Given the description of an element on the screen output the (x, y) to click on. 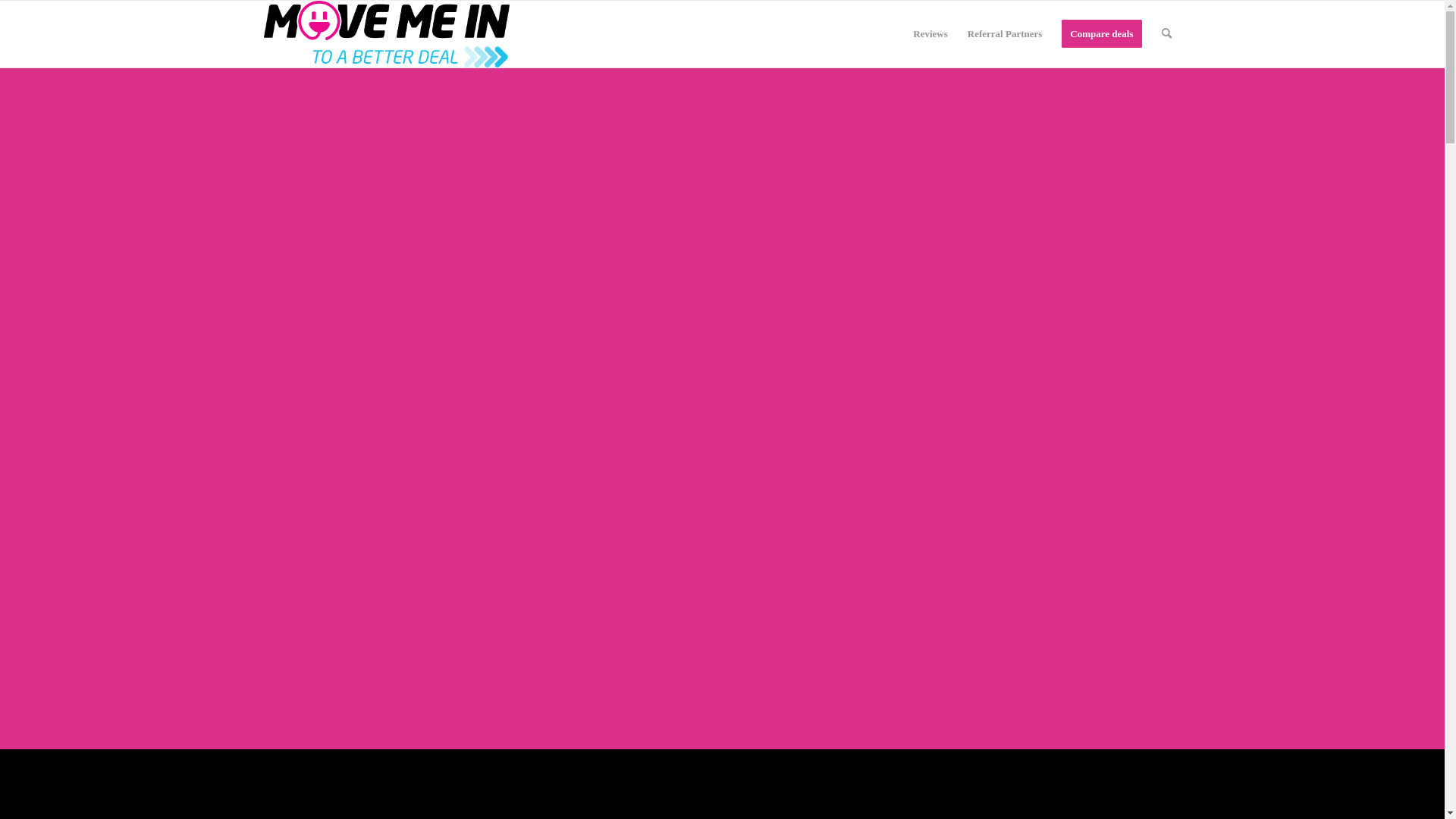
Reviews Element type: text (930, 33)
Compare deals Element type: text (1101, 33)
Referral Partners Element type: text (1004, 33)
